Given the description of an element on the screen output the (x, y) to click on. 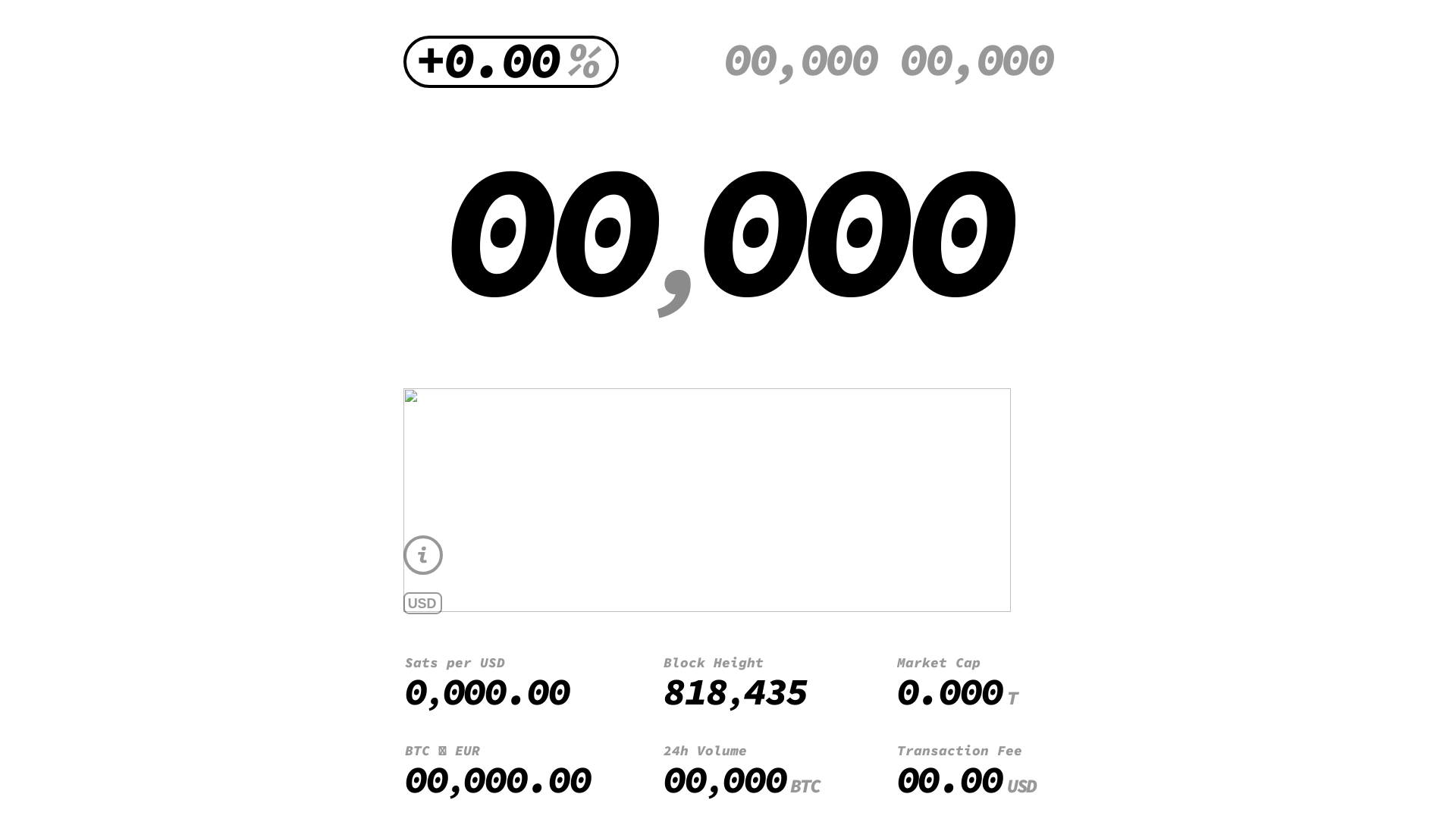
00,000 Element type: text (728, 227)
i Element type: text (422, 554)
